Given the description of an element on the screen output the (x, y) to click on. 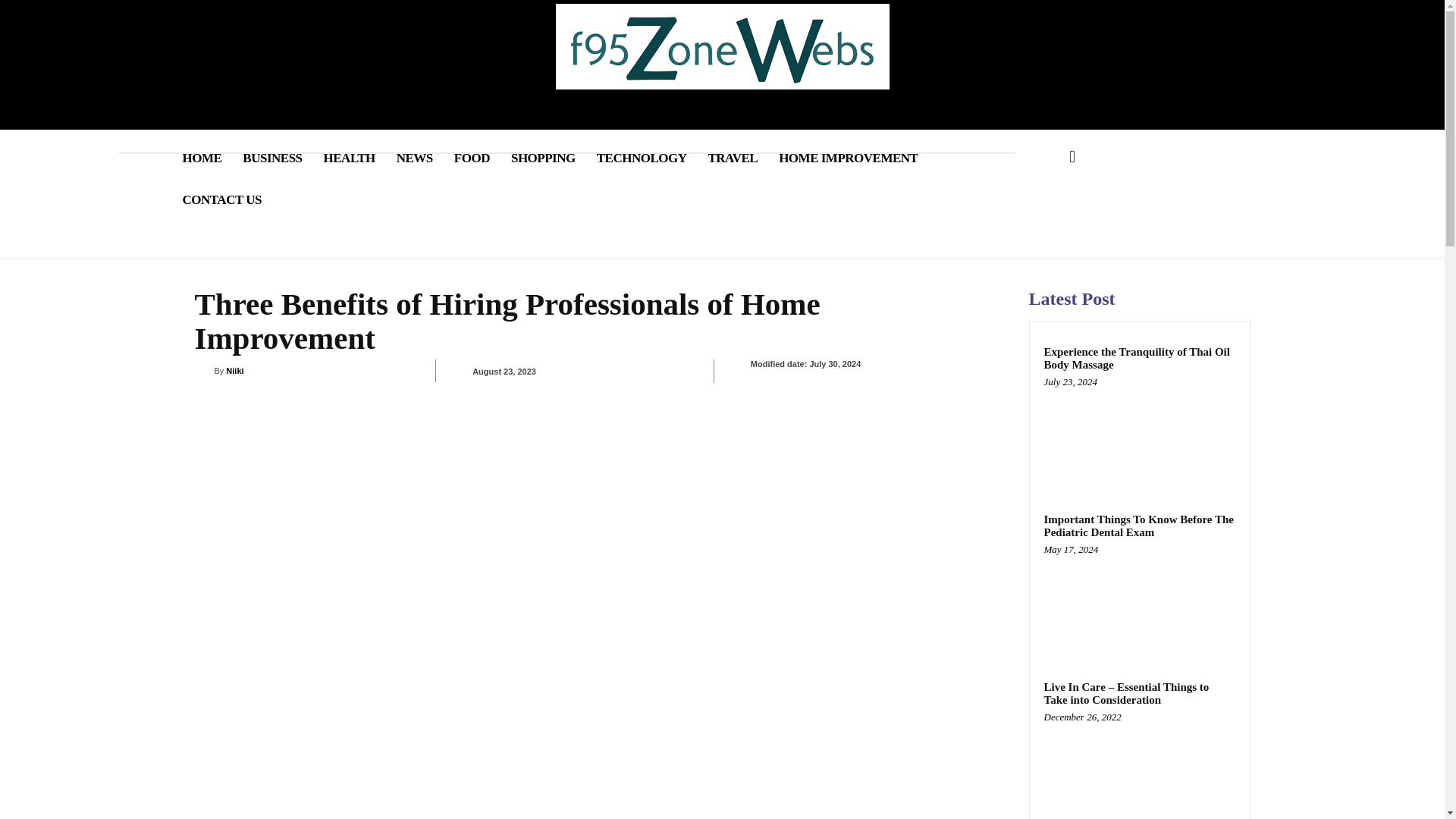
BUSINESS (272, 158)
SHOPPING (543, 158)
HOME (201, 158)
HOME IMPROVEMENT (848, 158)
NEWS (414, 158)
Niiki (203, 370)
Experience the Tranquility of Thai Oil Body Massage (1138, 432)
CONTACT US (220, 199)
TRAVEL (732, 158)
FOOD (472, 158)
